Given the description of an element on the screen output the (x, y) to click on. 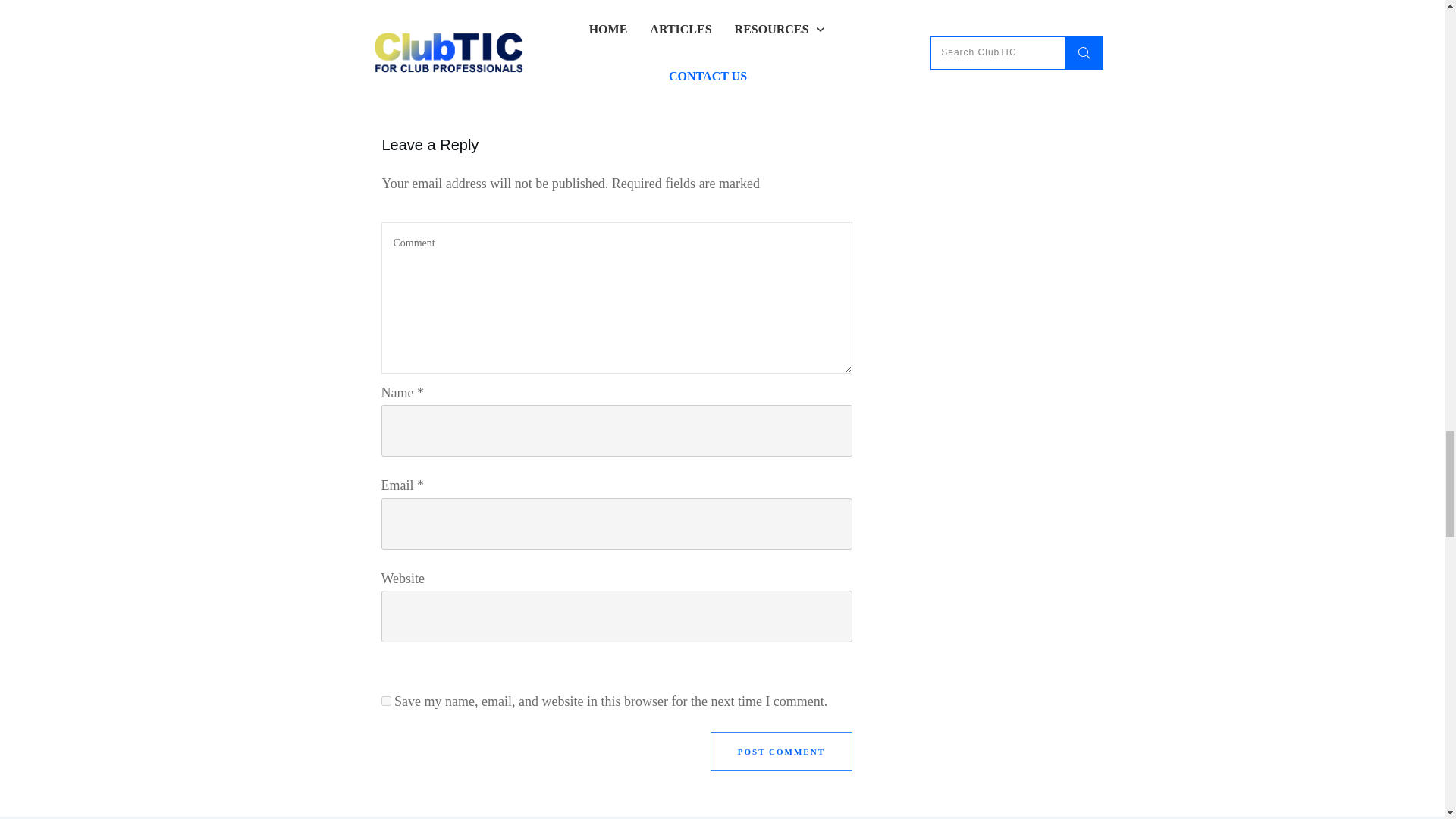
Northern Beaches heartland Narrabeen RSL for sale (737, 43)
City Tatts sells out of city site (494, 43)
City Tatts sells out of city site (465, 43)
Northern Beaches heartland Narrabeen RSL for sale (706, 52)
yes (385, 700)
POST COMMENT (780, 751)
Northern Beaches heartland Narrabeen RSL for sale (706, 52)
City Tatts sells out of city site (465, 43)
